Given the description of an element on the screen output the (x, y) to click on. 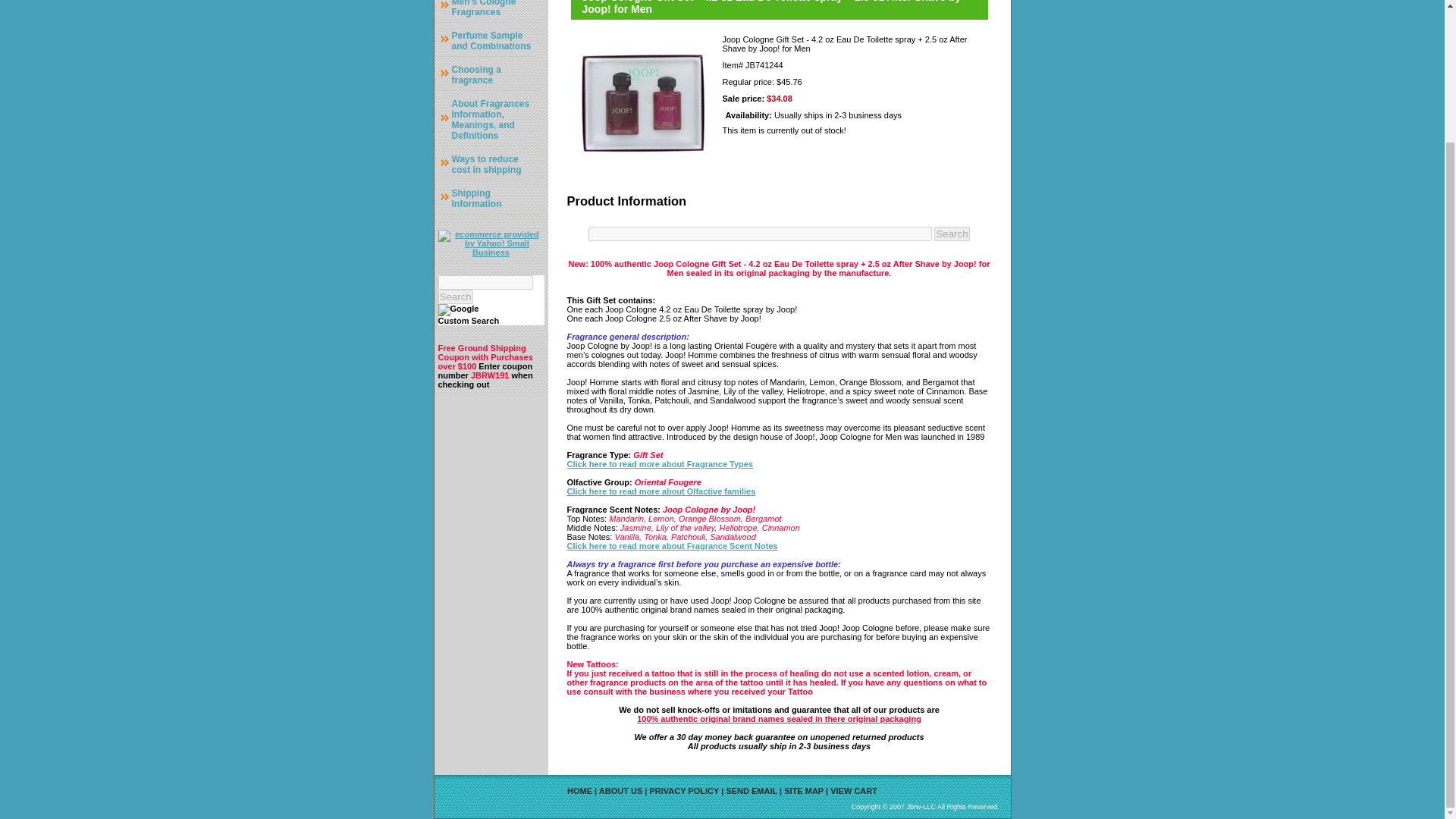
Shipping Information (486, 196)
HOME (579, 790)
Click here to read more about Fragrance Scent Notes (672, 544)
Search (951, 233)
Search (951, 233)
About Fragrances Information, Meanings, and Definitions (486, 117)
Ways to reduce cost in shipping (486, 163)
Search (455, 296)
About Fragrances Information, Meanings, and Definitions  (486, 117)
PRIVACY POLICY (684, 790)
